Given the description of an element on the screen output the (x, y) to click on. 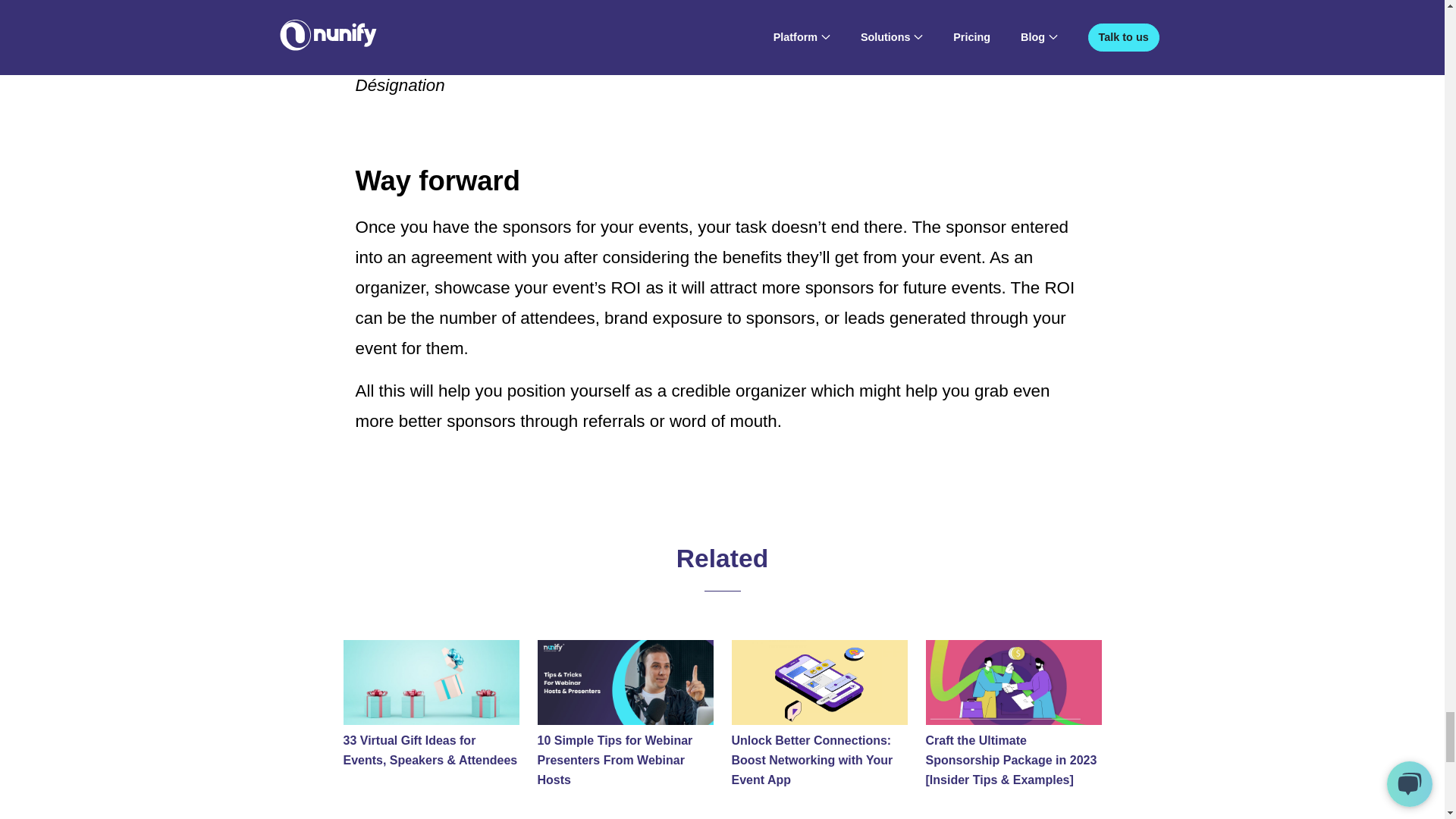
10 Simple Tips for Webinar Presenters From Webinar Hosts (625, 760)
